Given the description of an element on the screen output the (x, y) to click on. 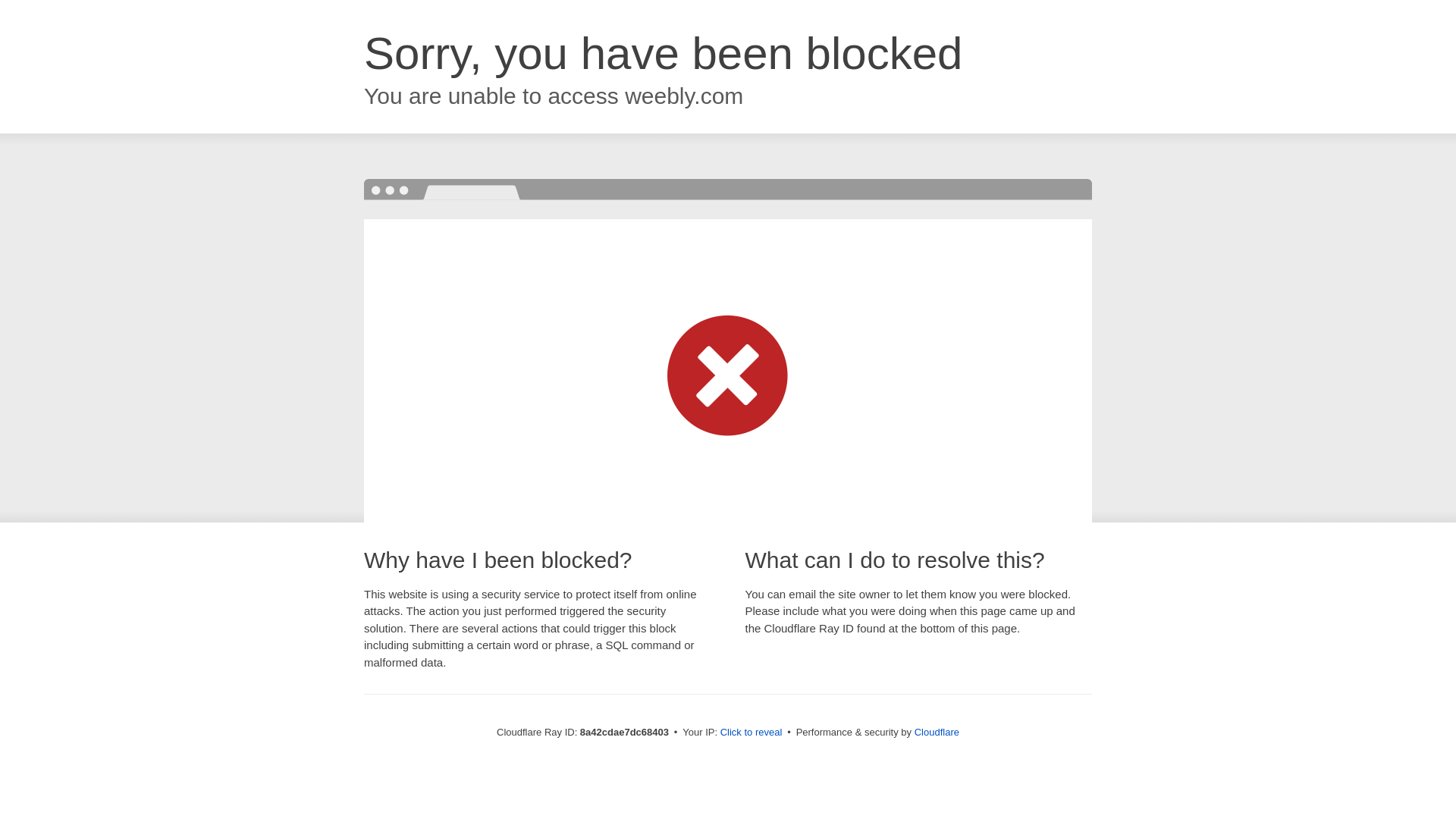
Cloudflare (936, 731)
Click to reveal (751, 732)
